Given the description of an element on the screen output the (x, y) to click on. 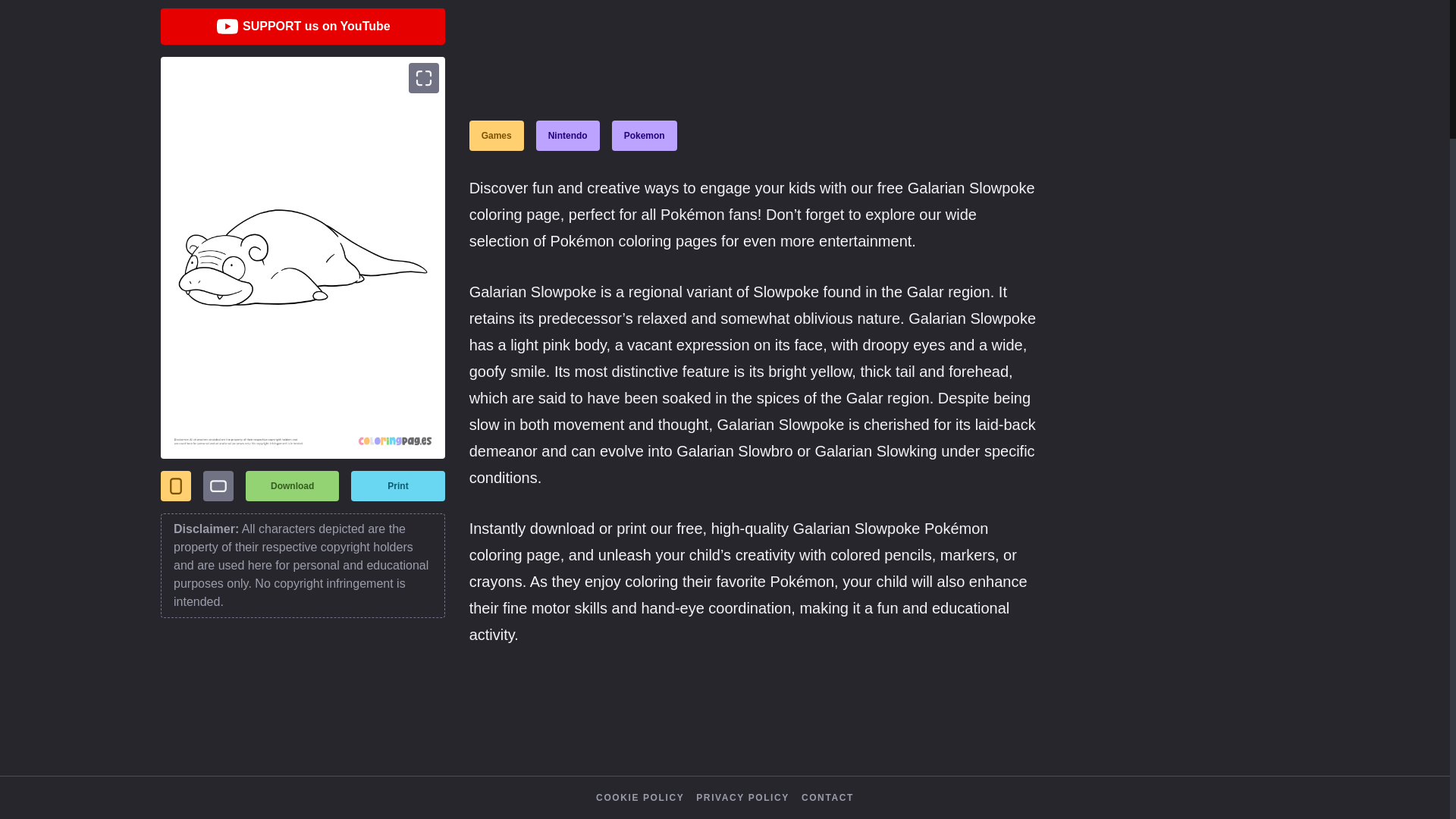
PRIVACY POLICY (742, 797)
Pokemon (644, 135)
Download (292, 485)
Nintendo (567, 135)
COOKIE POLICY (639, 797)
SUPPORT us on YouTube (302, 26)
Games (496, 135)
CONTACT (827, 797)
